Given the description of an element on the screen output the (x, y) to click on. 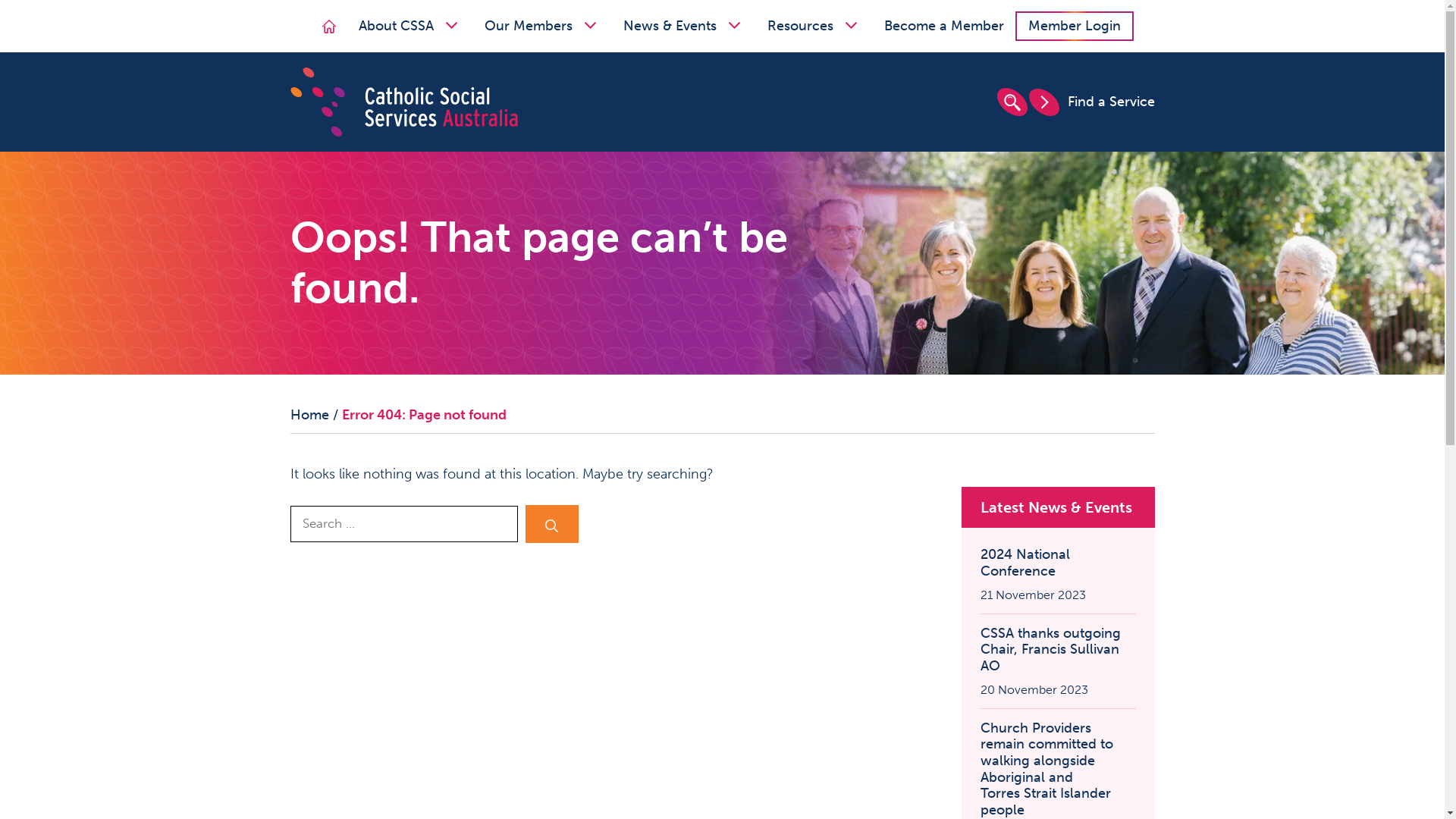
About CSSA Element type: text (410, 25)
Search for: Element type: hover (403, 523)
Catholic Social Services Australia Element type: hover (403, 100)
CSSA thanks outgoing Chair, Francis Sullivan AO Element type: text (1057, 649)
Find a Service Element type: text (1090, 101)
Resources Element type: text (814, 25)
Become a Member Element type: text (943, 25)
Home Element type: text (328, 26)
2024 National Conference Element type: text (1057, 562)
Catholic Social Services Australia Element type: hover (403, 101)
Latest News & Events Element type: text (1055, 507)
Member Login Element type: text (1074, 25)
Home Element type: text (308, 414)
News & Events Element type: text (683, 25)
Our Members Element type: text (542, 25)
